Given the description of an element on the screen output the (x, y) to click on. 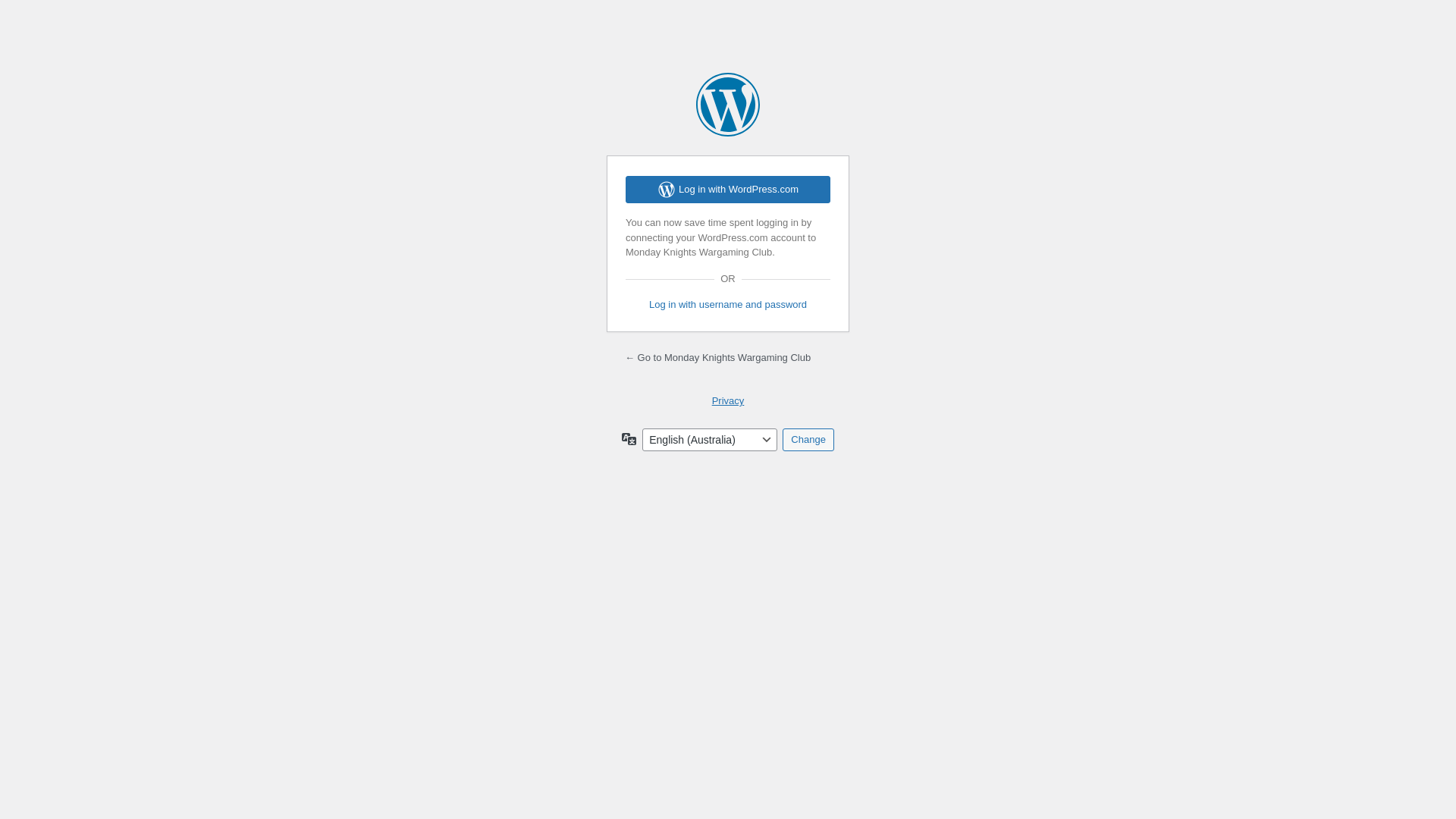
Privacy Element type: text (728, 400)
Log in with WordPress.com Element type: text (727, 189)
Powered by WordPress Element type: text (727, 104)
Log in with username and password Element type: text (727, 304)
Change Element type: text (808, 439)
